Given the description of an element on the screen output the (x, y) to click on. 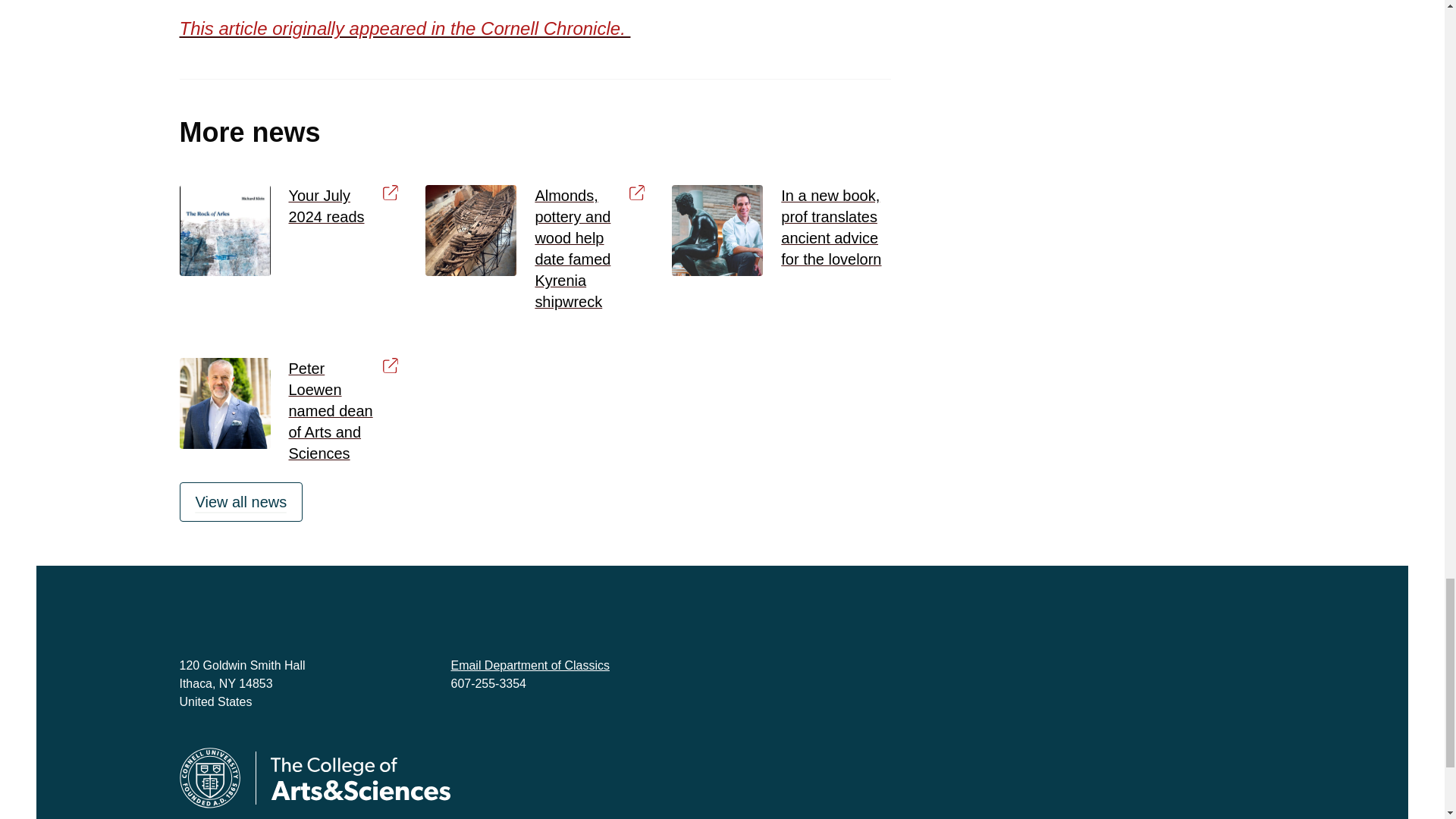
This article originally appeared in the Cornell Chronicle.  (404, 28)
Your July 2024 reads (342, 206)
Almonds, pottery and wood help date famed Kyrenia shipwreck (589, 248)
Cornell University (209, 777)
Peter Loewen named dean of Arts and Sciences (342, 410)
